Given the description of an element on the screen output the (x, y) to click on. 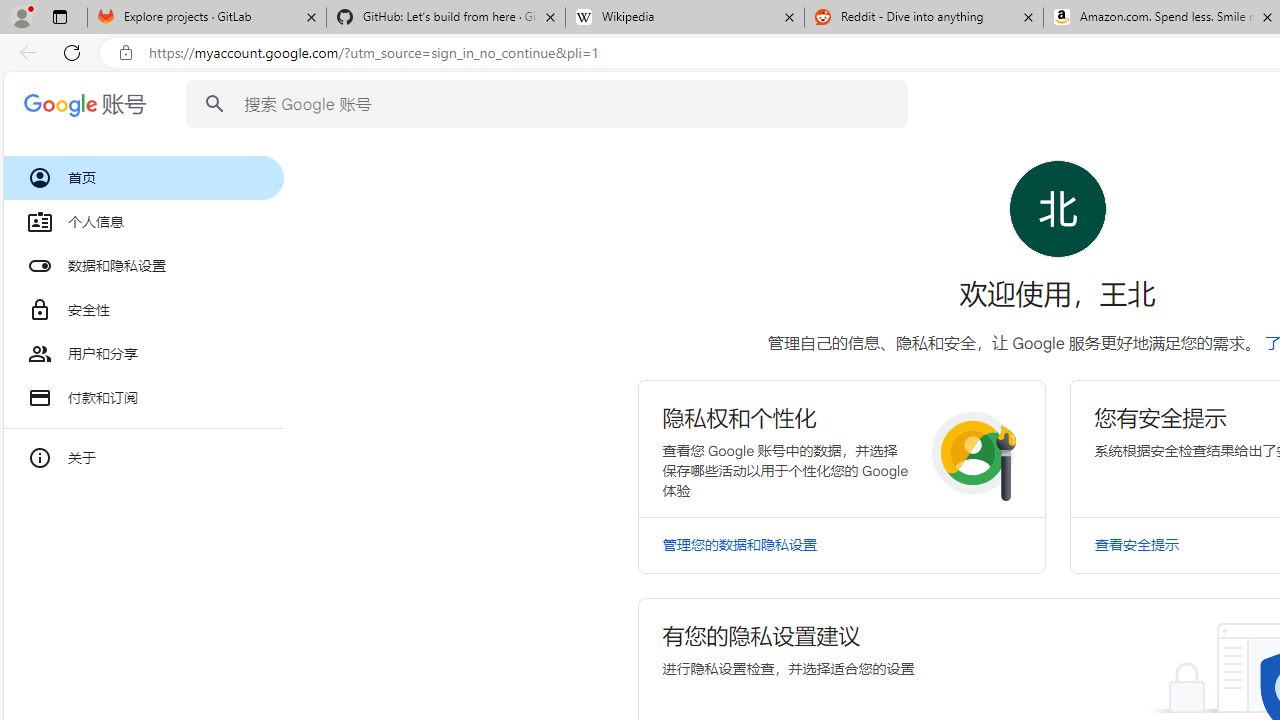
Class: RlFDUe N5YmOc kJXJmd bvW4md I6g62c (840, 448)
